Given the description of an element on the screen output the (x, y) to click on. 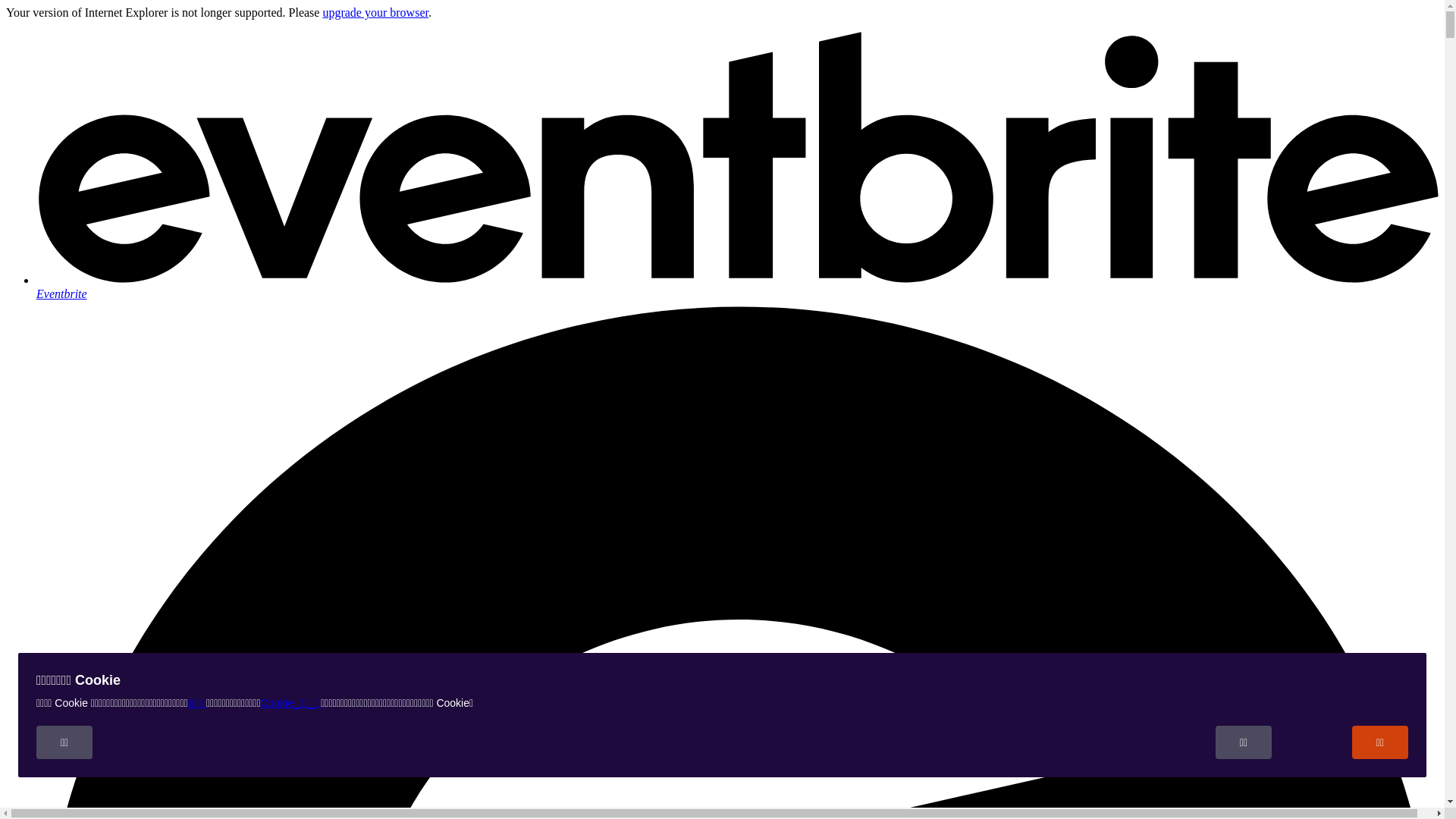
upgrade your browser Element type: text (375, 12)
Eventbrite Element type: text (737, 286)
